Given the description of an element on the screen output the (x, y) to click on. 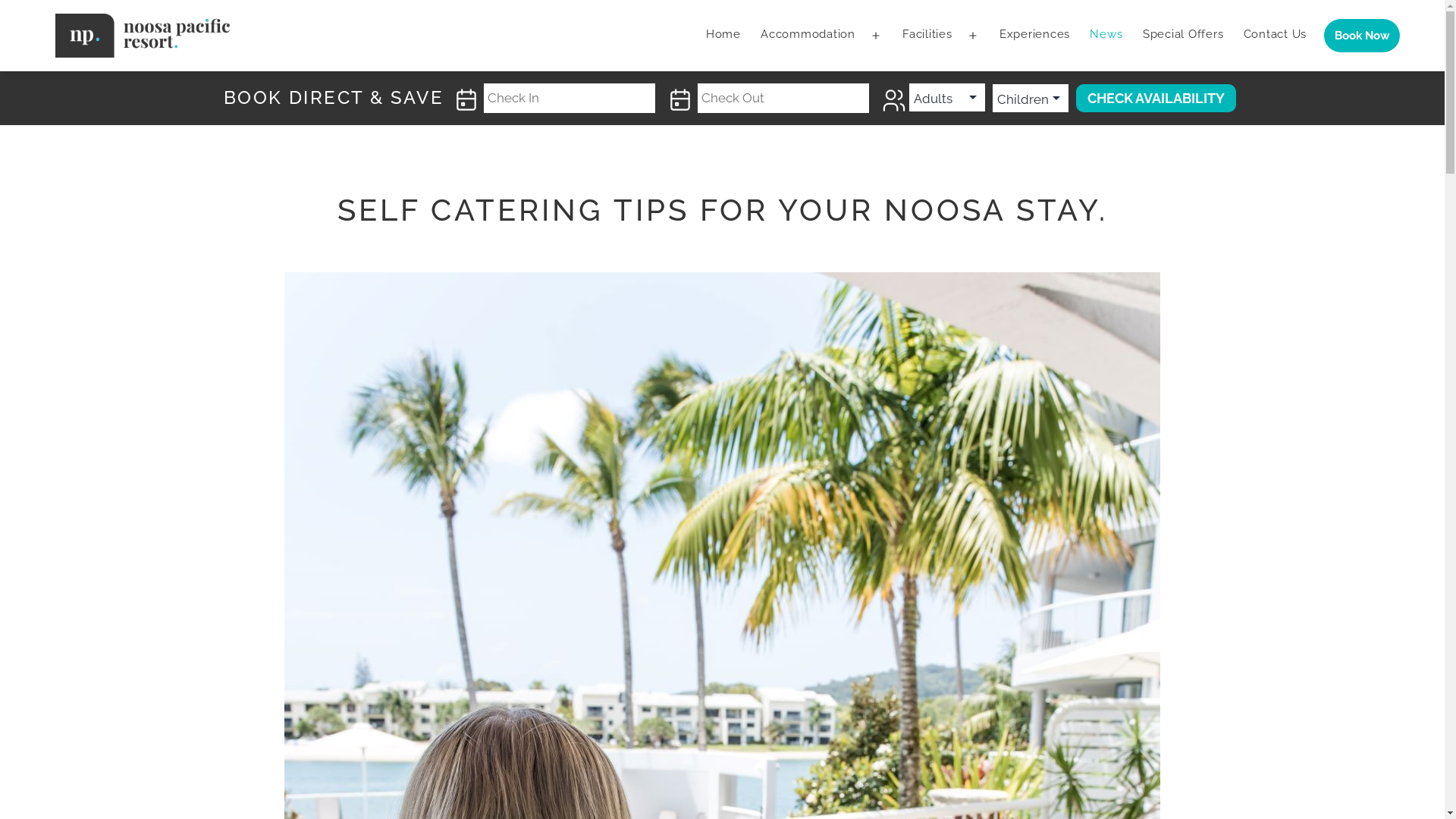
Facilities Element type: text (927, 35)
Special Offers Element type: text (1182, 35)
Home Element type: text (723, 35)
Check Availability Element type: text (1156, 98)
Book Now Element type: text (1361, 35)
Accommodation Element type: text (807, 35)
Open menu Element type: text (972, 35)
Experiences Element type: text (1034, 35)
Open menu Element type: text (875, 35)
Contact Us Element type: text (1274, 35)
News Element type: text (1105, 35)
